Given the description of an element on the screen output the (x, y) to click on. 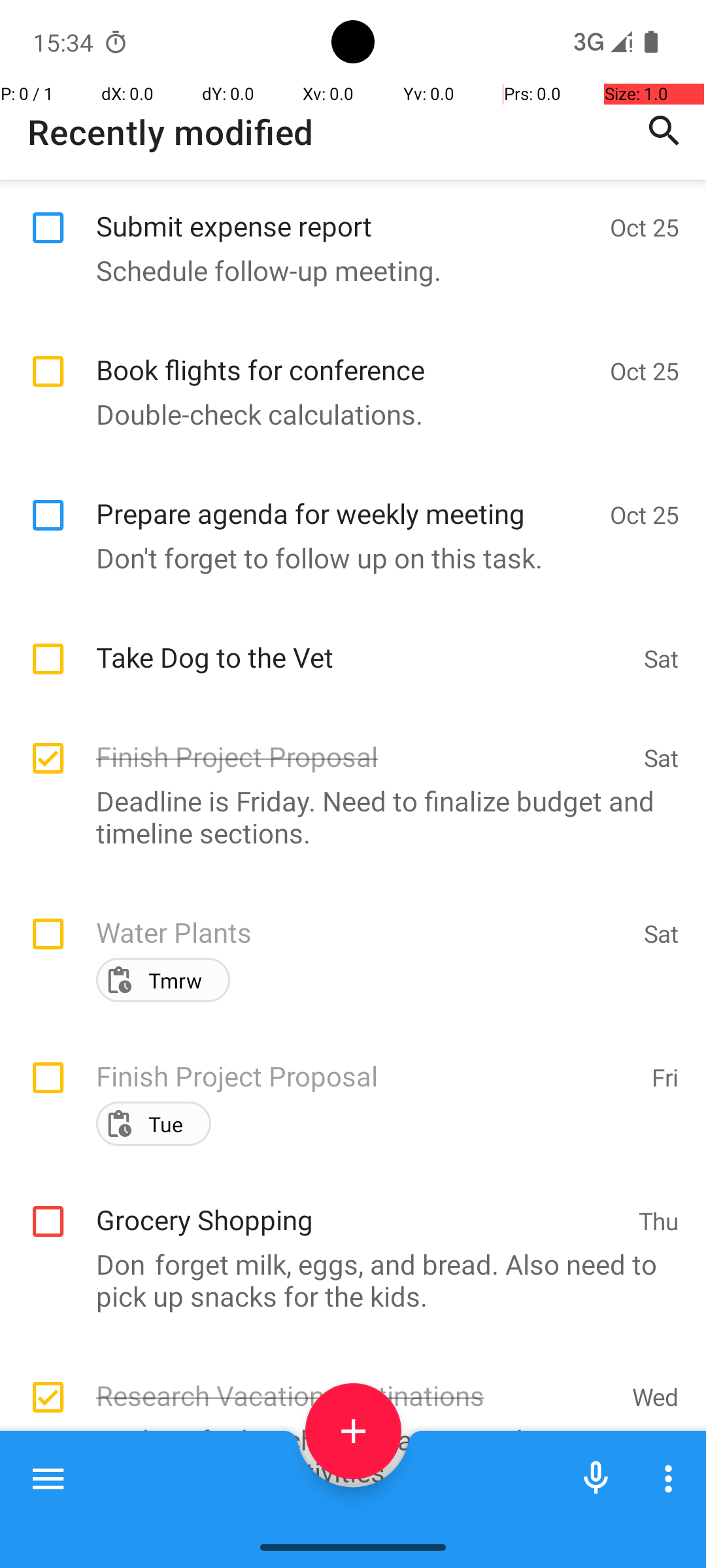
Recently modified Element type: android.widget.TextView (170, 131)
Submit expense report Element type: android.widget.TextView (346, 211)
Schedule follow-up meeting. Element type: android.widget.TextView (346, 269)
Oct 25 Element type: android.widget.TextView (644, 226)
Book flights for conference Element type: android.widget.TextView (346, 355)
Double-check calculations. Element type: android.widget.TextView (346, 413)
Prepare agenda for weekly meeting Element type: android.widget.TextView (346, 499)
Don't forget to follow up on this task. Element type: android.widget.TextView (346, 557)
